Given the description of an element on the screen output the (x, y) to click on. 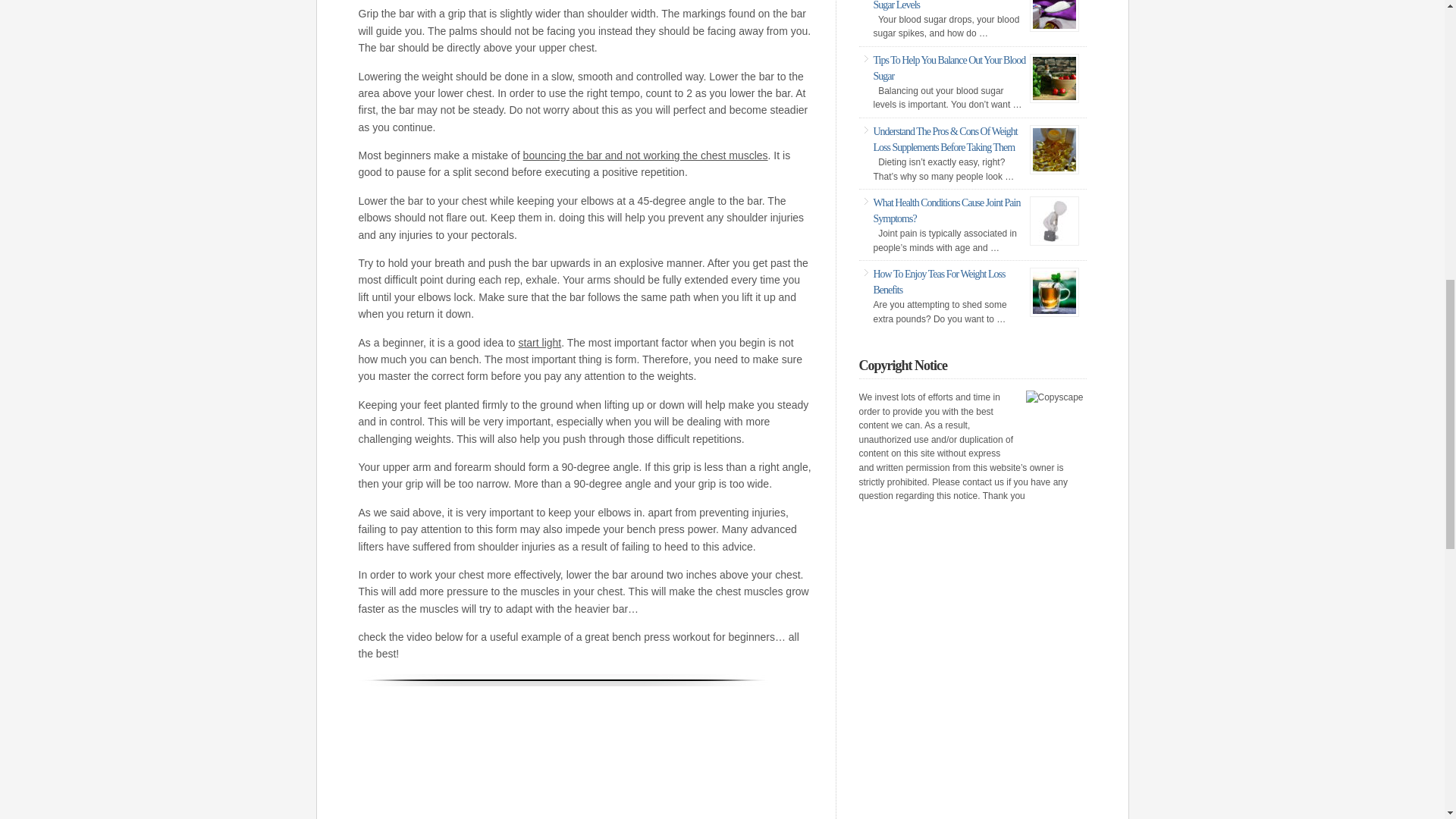
Tips To Help You Balance Out Your Blood Sugar (949, 67)
Permalink to How To Enjoy Teas For Weight Loss Benefits (939, 281)
How To Enjoy Teas For Weight Loss Benefits (939, 281)
Tips To Help You Balance Out Your Blood Sugar Levels (949, 5)
Permalink to Tips To Help You Balance Out Your Blood Sugar (949, 67)
What Health Conditions Cause Joint Pain Symptoms? (946, 210)
